Given the description of an element on the screen output the (x, y) to click on. 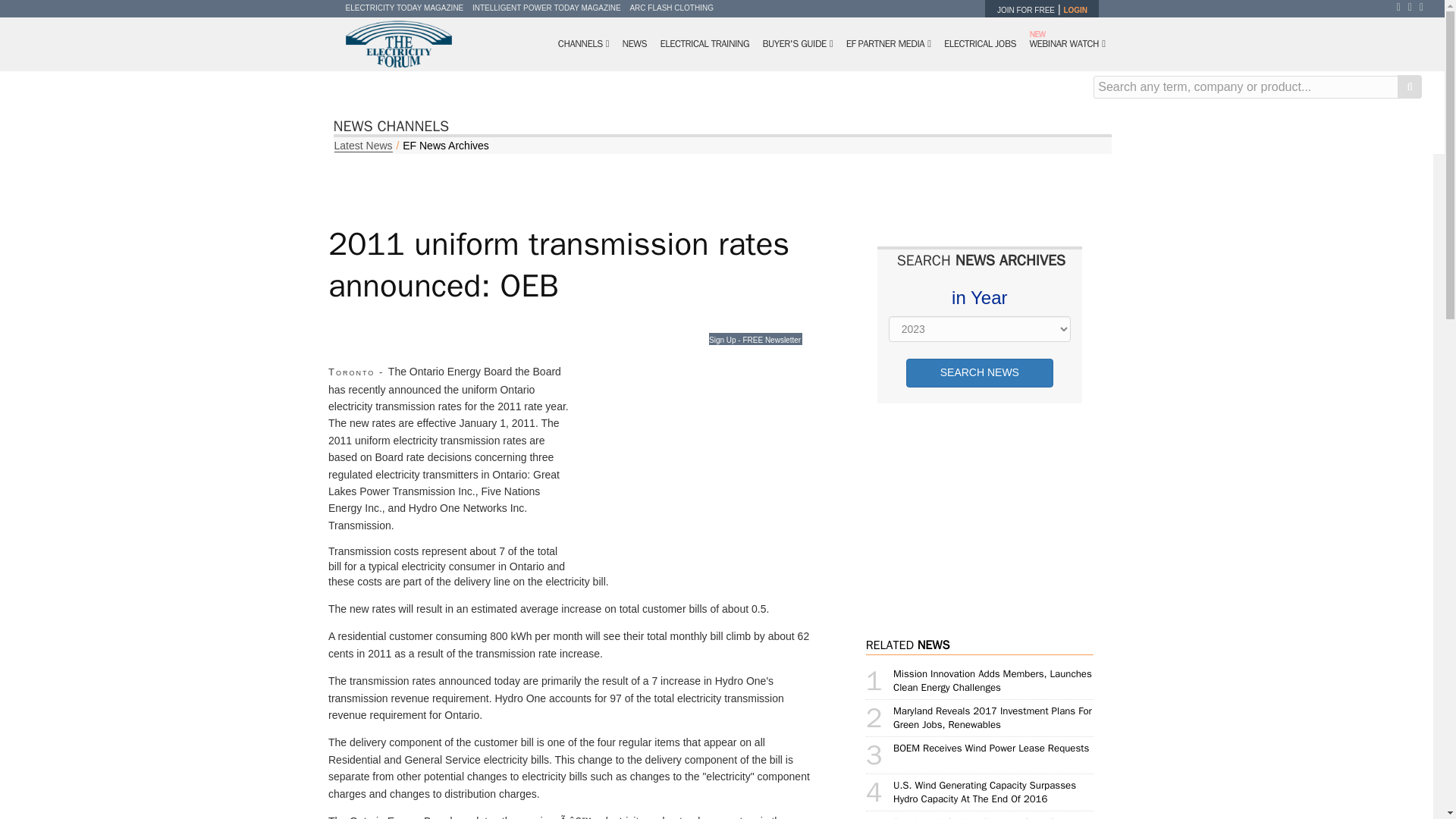
ELECTRICAL TRAINING (703, 44)
EF PARTNER MEDIA (888, 44)
Advertisement (694, 465)
BUYER'S GUIDE (797, 44)
WEBINAR WATCH (1066, 44)
BOEM Receives Wind Power Lease Requests (991, 748)
JOIN FOR FREE (1025, 9)
Latest News (362, 145)
Sign Up - FREE Newsletter (755, 338)
